Given the description of an element on the screen output the (x, y) to click on. 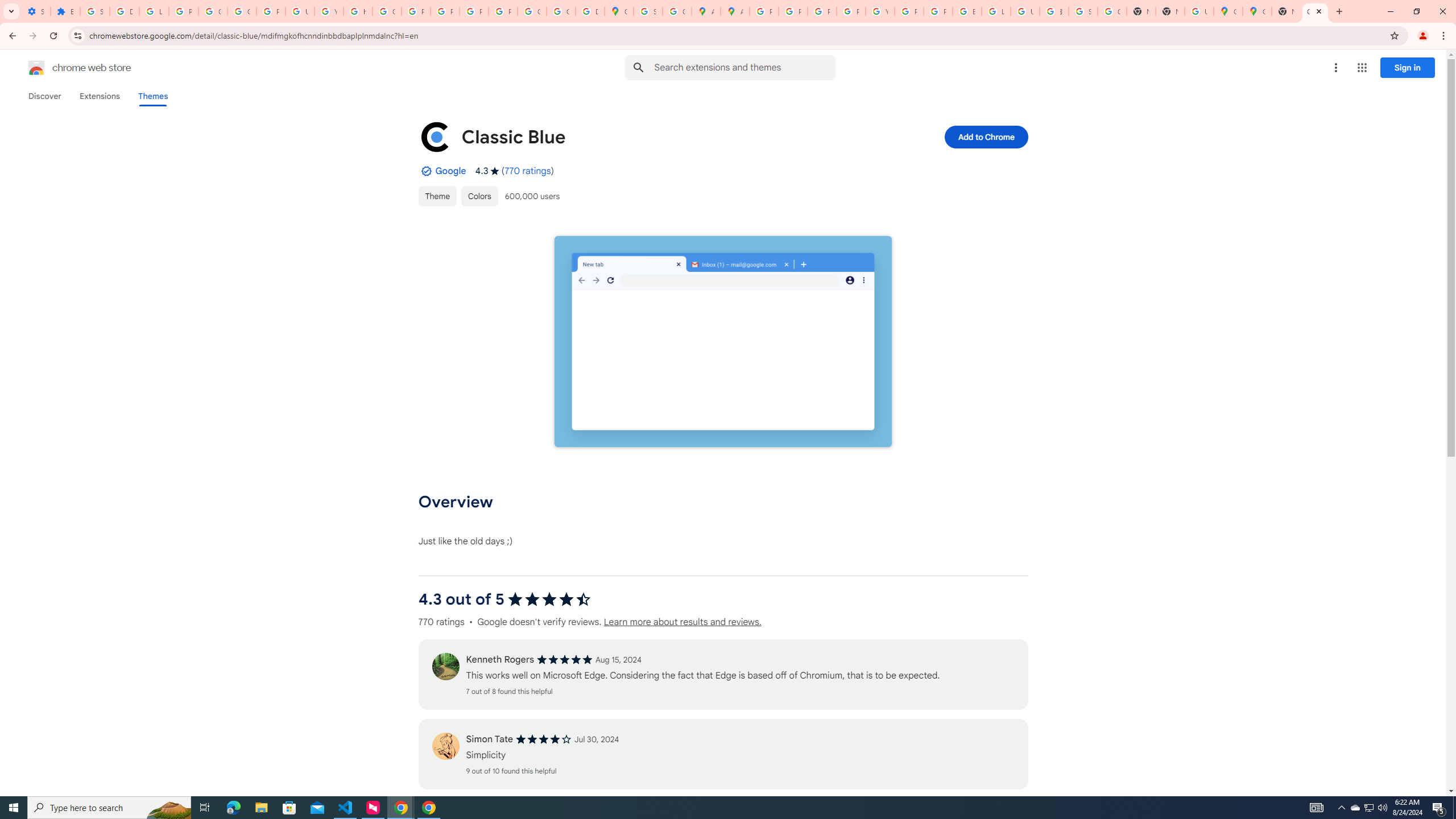
Extensions (99, 95)
Add to Chrome (985, 136)
4 out of 5 stars (543, 739)
4.3 out of 5 stars (549, 599)
More options menu (1335, 67)
770 ratings (527, 170)
Sign in - Google Accounts (95, 11)
Sign in - Google Accounts (648, 11)
Google Maps (619, 11)
